Given the description of an element on the screen output the (x, y) to click on. 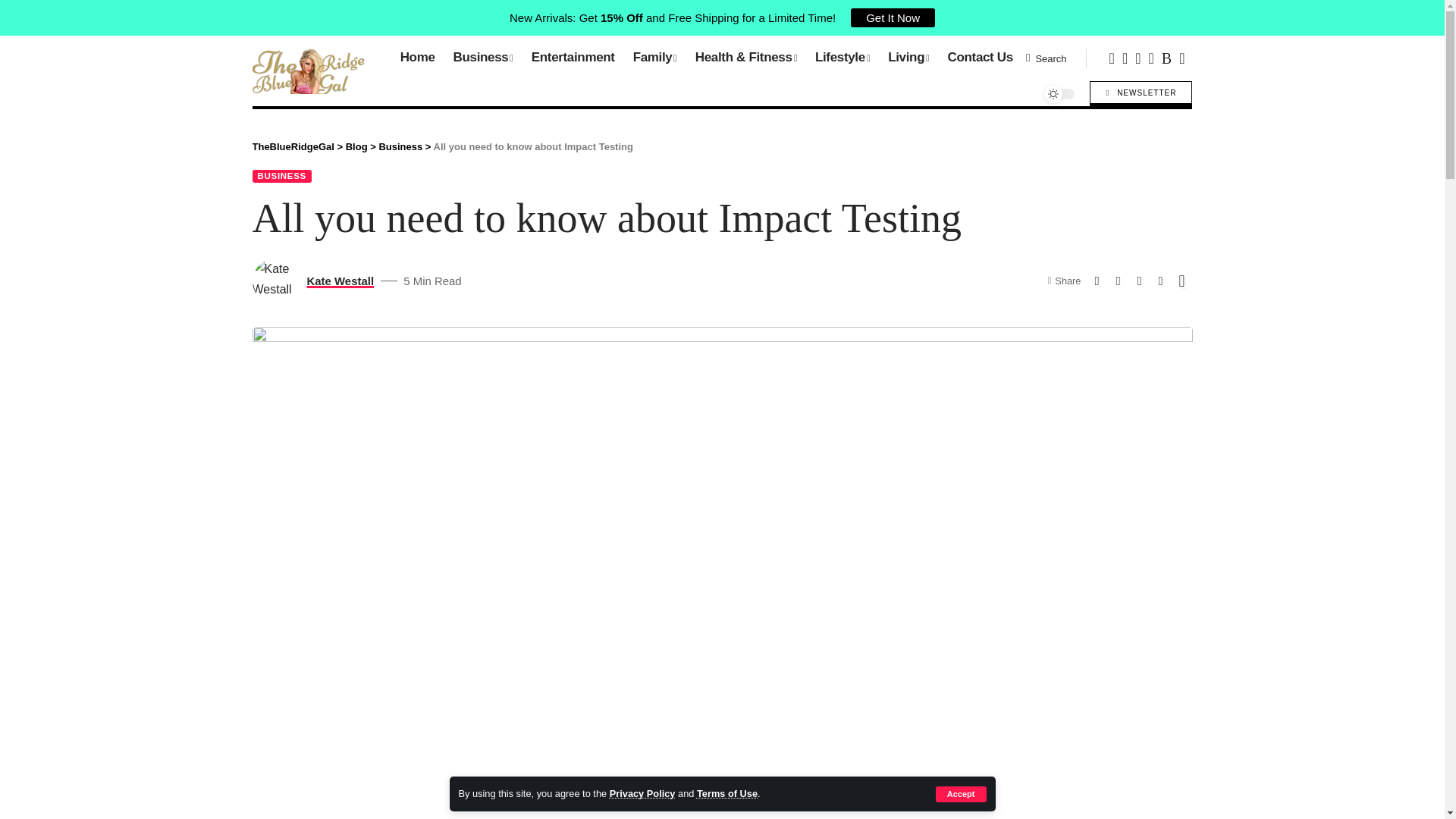
Entertainment (573, 58)
Family (654, 58)
Business (483, 58)
Accept (961, 794)
Get It Now (892, 17)
Contact Us (980, 58)
Lifestyle (842, 58)
Search (1046, 57)
Go to the Business Category archives. (400, 146)
Privacy Policy (642, 793)
